Given the description of an element on the screen output the (x, y) to click on. 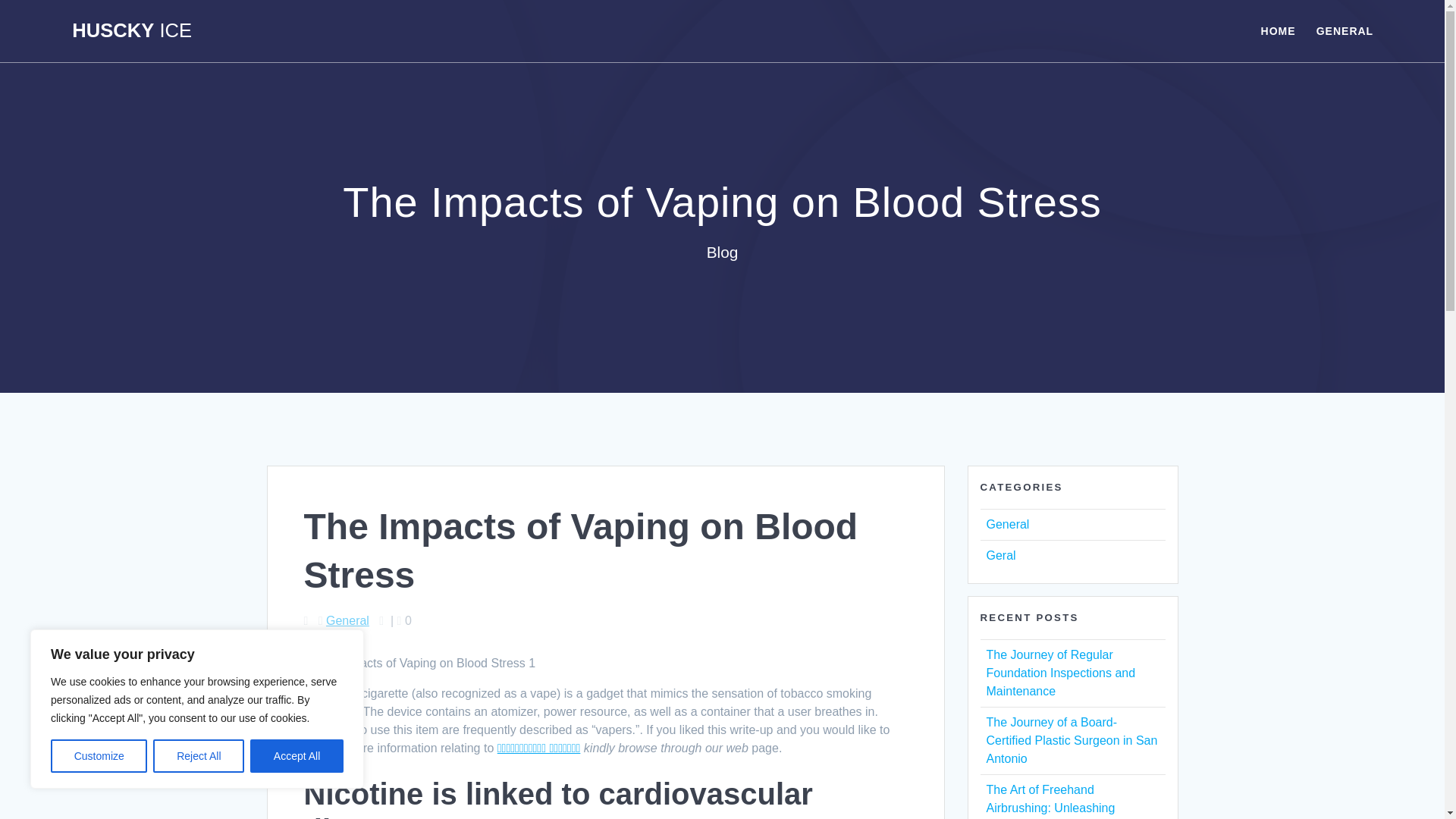
Customize (98, 756)
GENERAL (1344, 30)
General (1007, 523)
HOME (1277, 30)
Geral (999, 554)
General (347, 620)
Reject All (198, 756)
HUSCKY ICE (131, 30)
Accept All (296, 756)
